Given the description of an element on the screen output the (x, y) to click on. 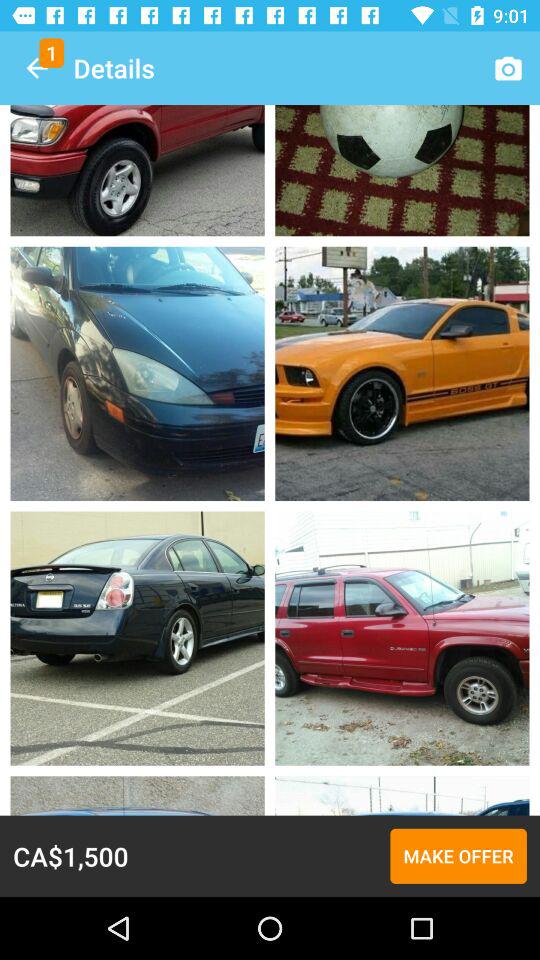
tap item next to the details icon (36, 68)
